Given the description of an element on the screen output the (x, y) to click on. 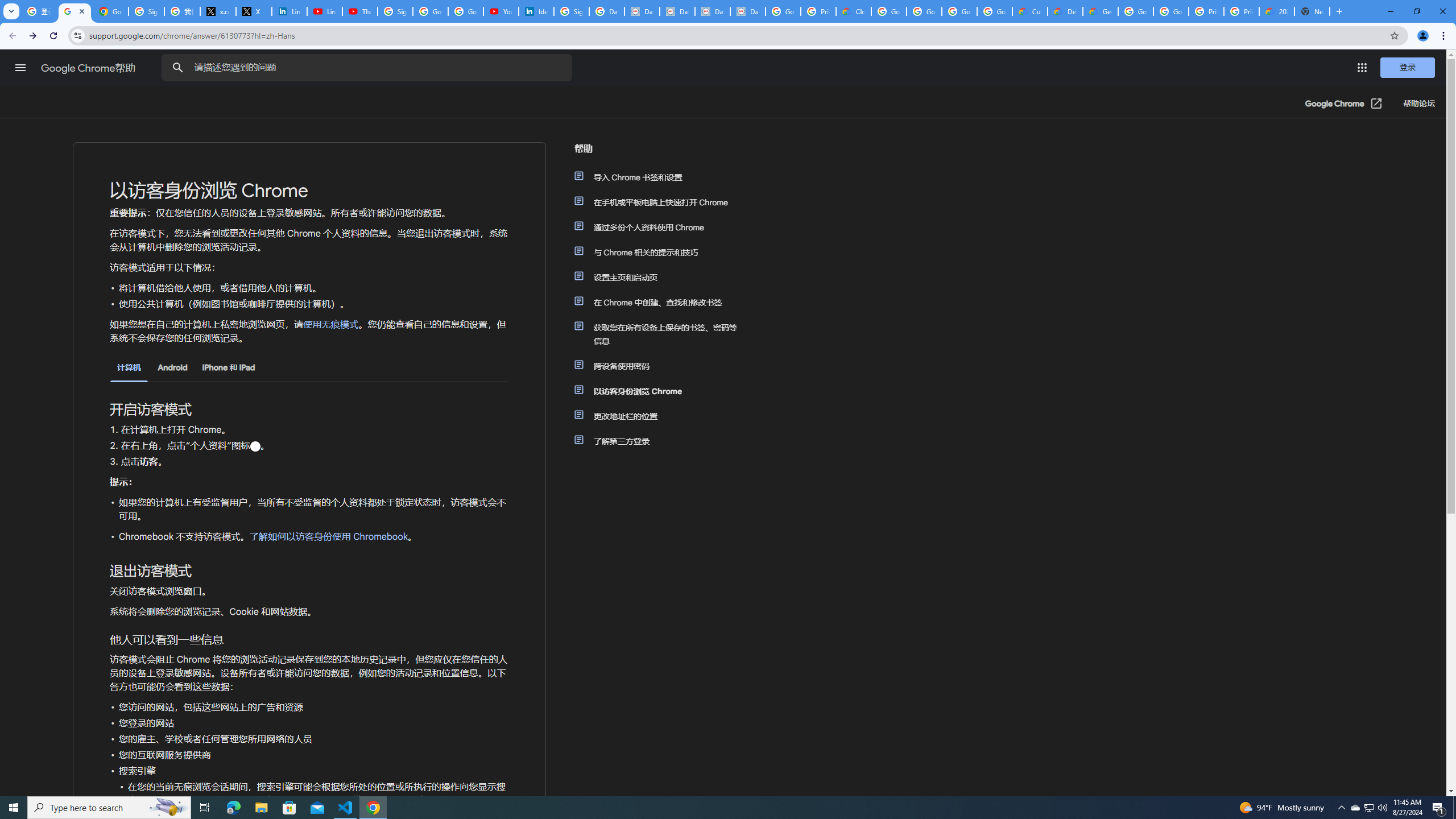
Gemini for Business and Developers | Google Cloud (1099, 11)
Data Privacy Framework (641, 11)
Google Workspace - Specific Terms (959, 11)
LinkedIn Privacy Policy (288, 11)
Google Cloud Platform (1135, 11)
